Given the description of an element on the screen output the (x, y) to click on. 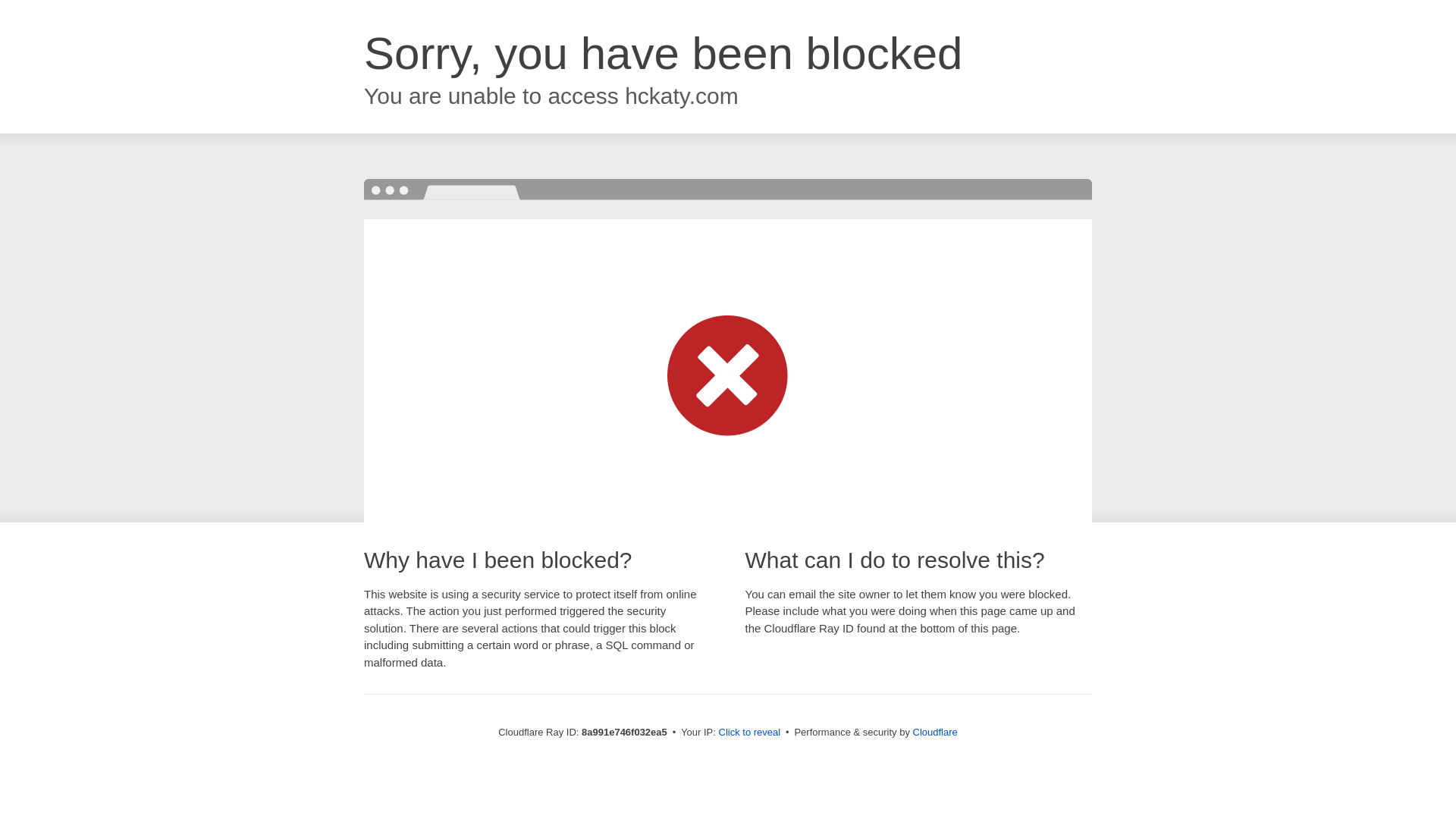
Cloudflare (935, 731)
Click to reveal (749, 732)
